Given the description of an element on the screen output the (x, y) to click on. 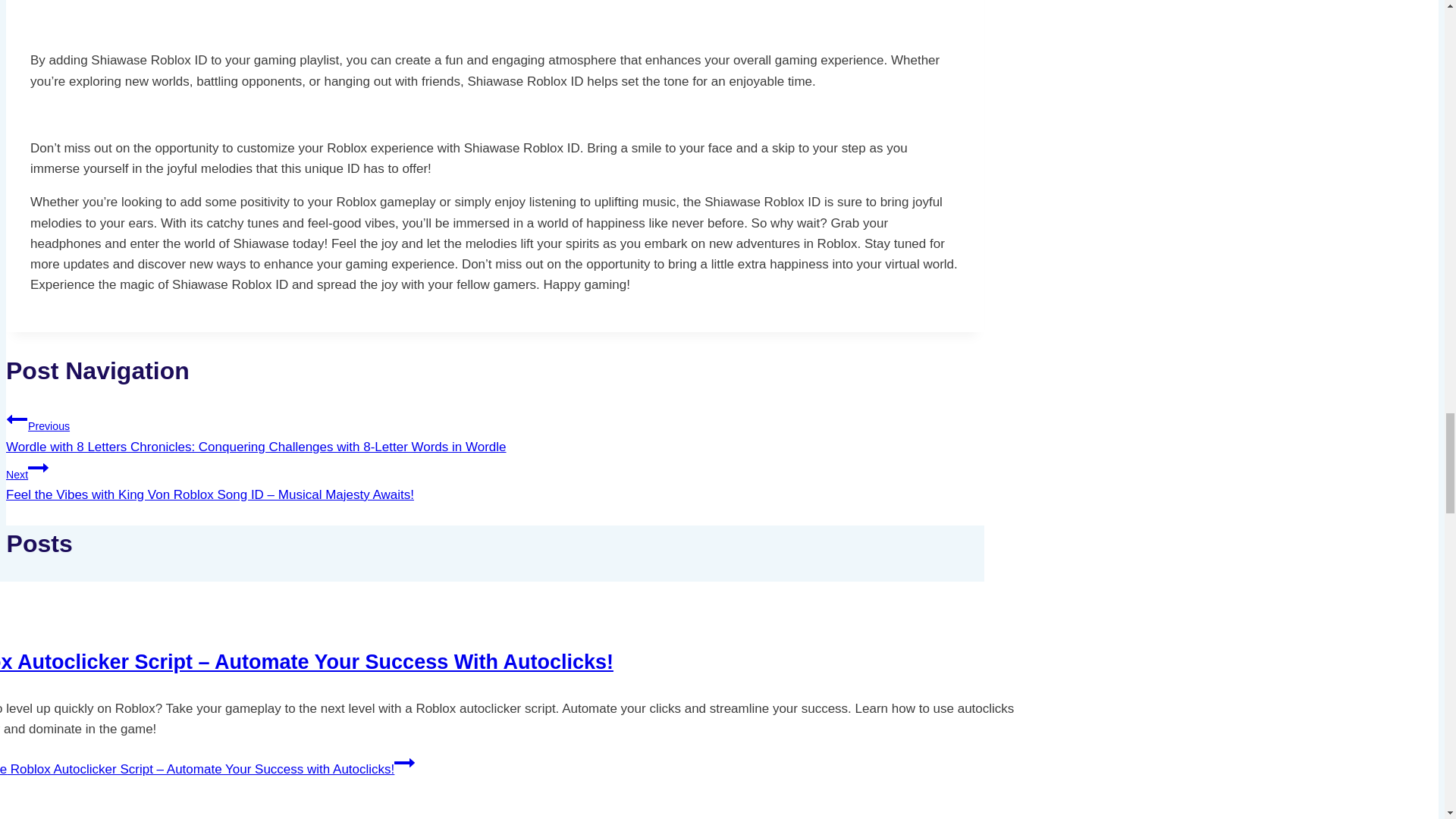
Continue (37, 467)
Previous (16, 418)
Continue (404, 762)
